Given the description of an element on the screen output the (x, y) to click on. 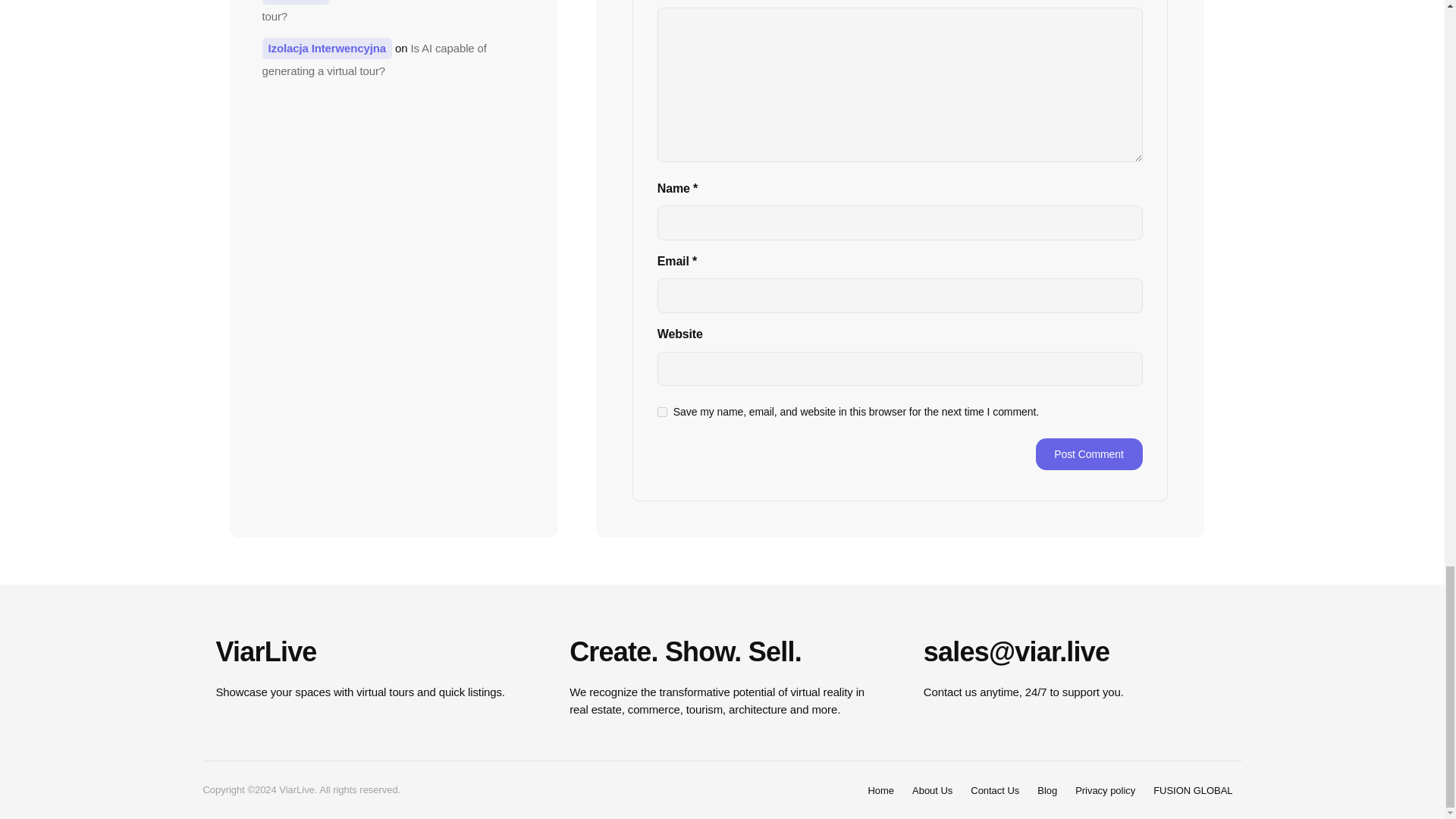
Post Comment (1088, 454)
yes (662, 411)
Post Comment (1088, 454)
